Given the description of an element on the screen output the (x, y) to click on. 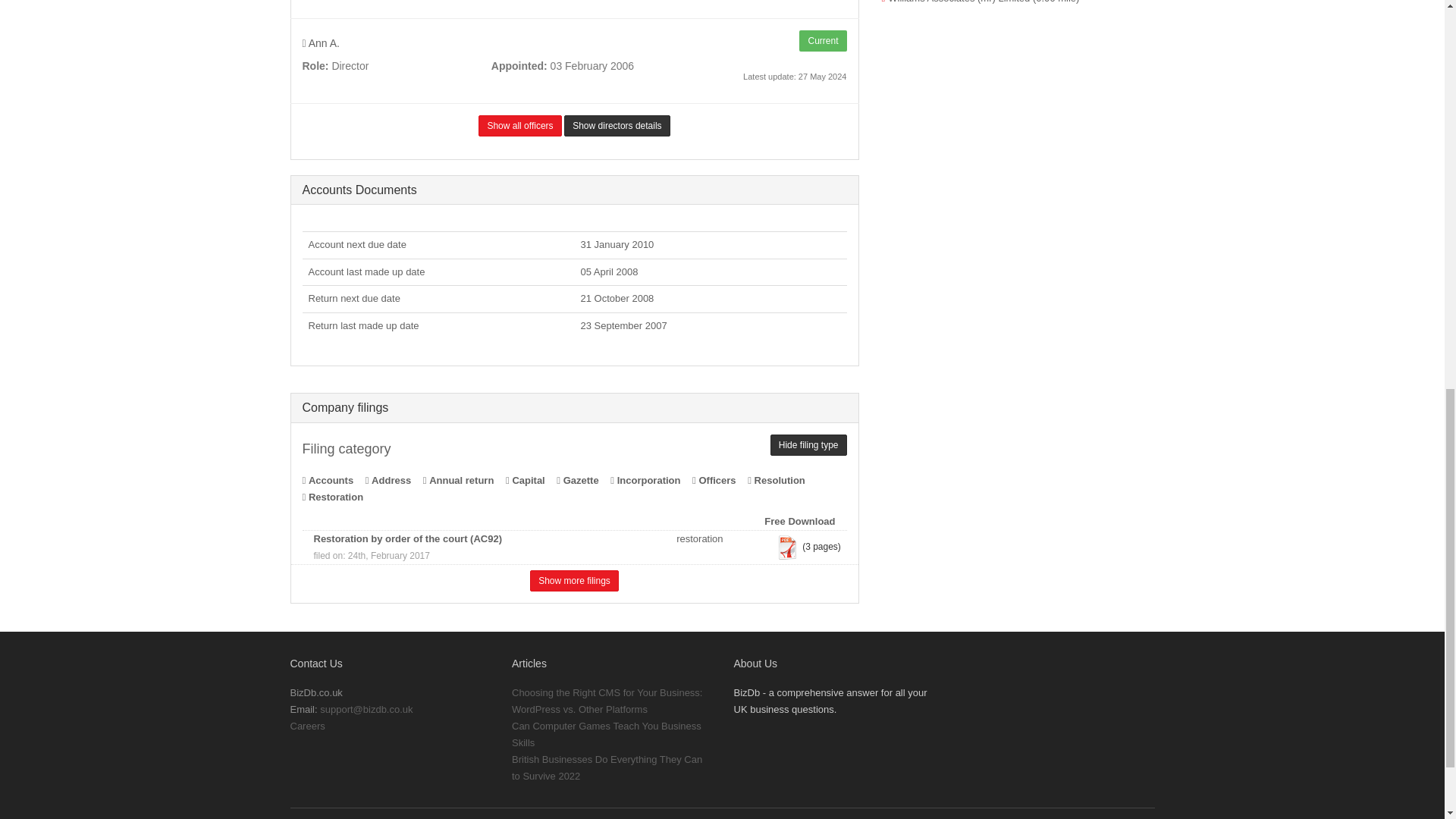
Show directors details (616, 125)
Articles (529, 663)
British Businesses Do Everything They Can to Survive 2022 (606, 767)
Careers (306, 726)
Download the filing (787, 547)
Show more filings (573, 580)
Can Computer Games Teach You Business Skills (606, 734)
Show all officers (519, 125)
Current (822, 40)
